Given the description of an element on the screen output the (x, y) to click on. 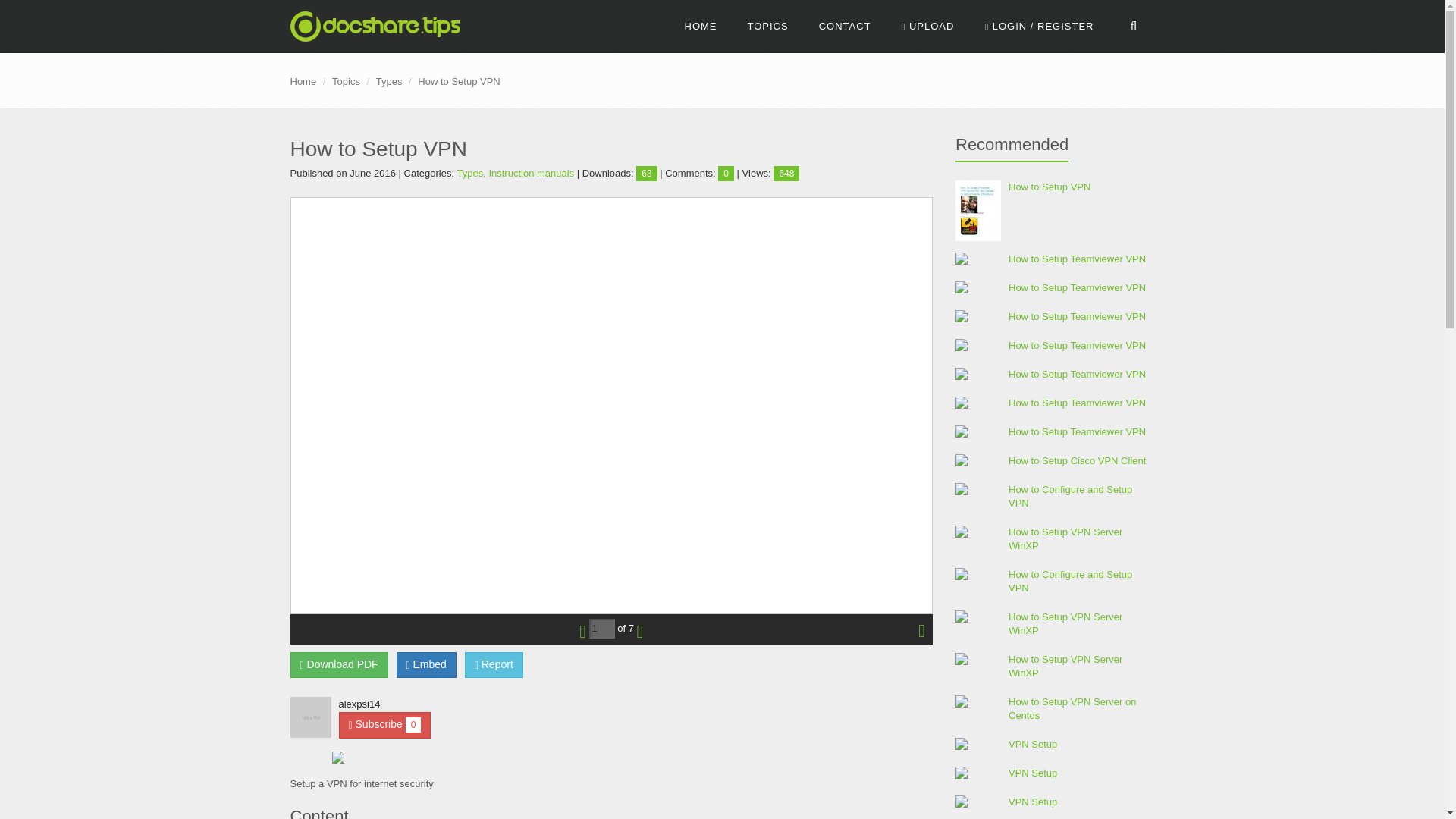
TOPICS (767, 26)
Share (426, 664)
HOME (700, 26)
1 (601, 629)
